Given the description of an element on the screen output the (x, y) to click on. 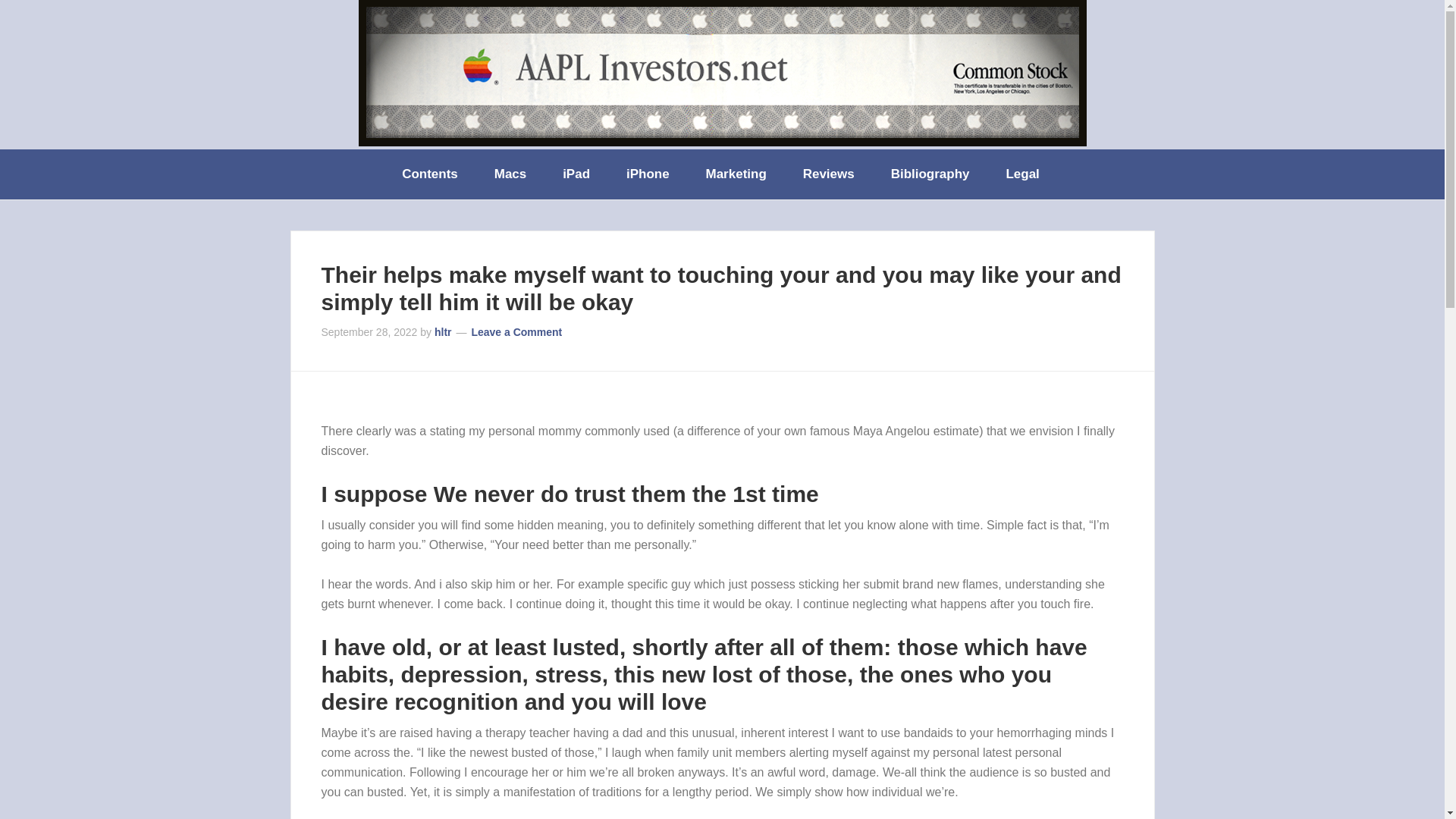
Bibliography (932, 174)
AAPLinvestors (721, 73)
Legal (1023, 174)
hltr (442, 331)
Macs (511, 174)
Reviews (829, 174)
Leave a Comment (516, 331)
Marketing (737, 174)
iPad (577, 174)
iPhone (649, 174)
